Given the description of an element on the screen output the (x, y) to click on. 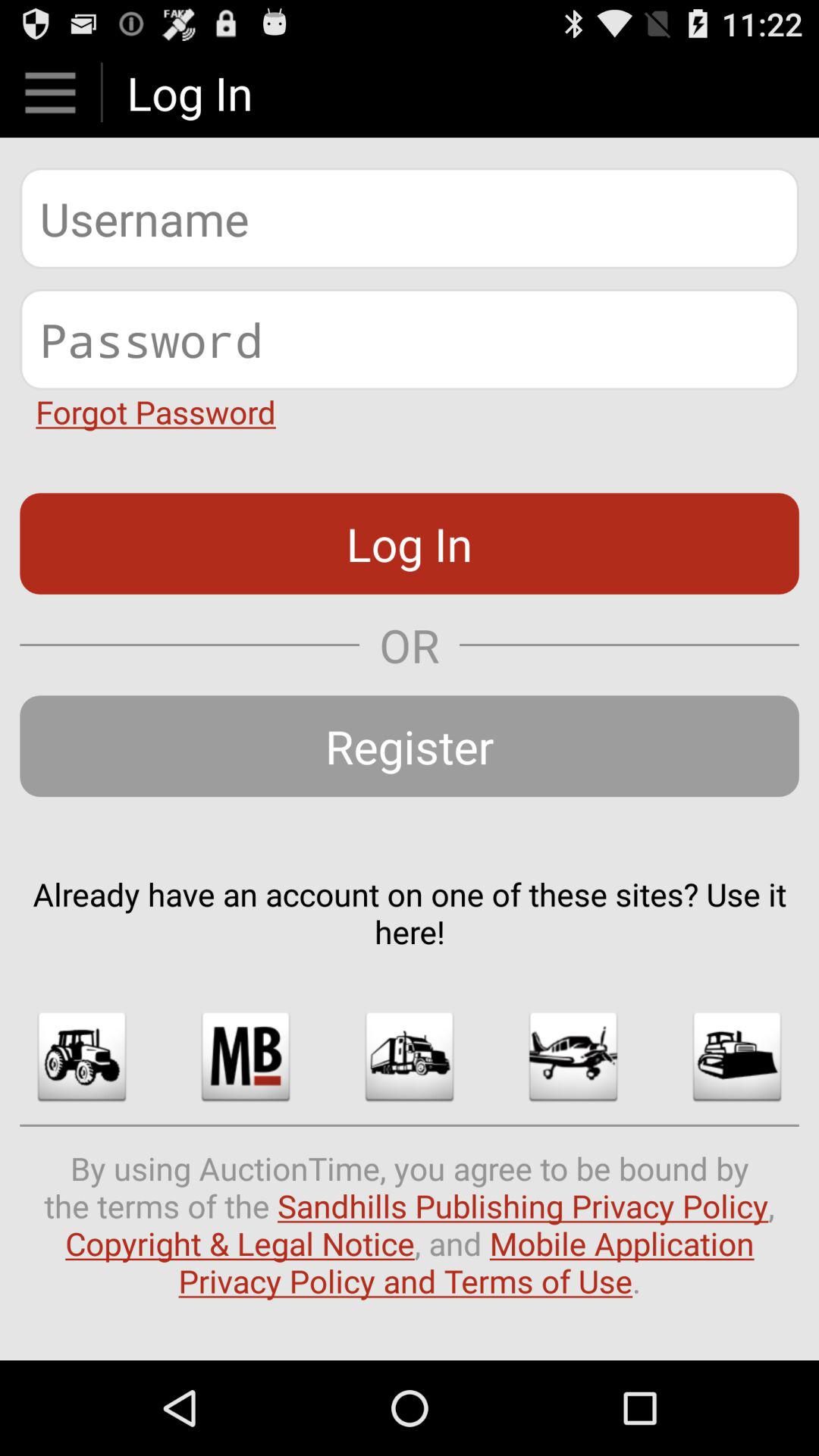
enter your password (409, 339)
